Given the description of an element on the screen output the (x, y) to click on. 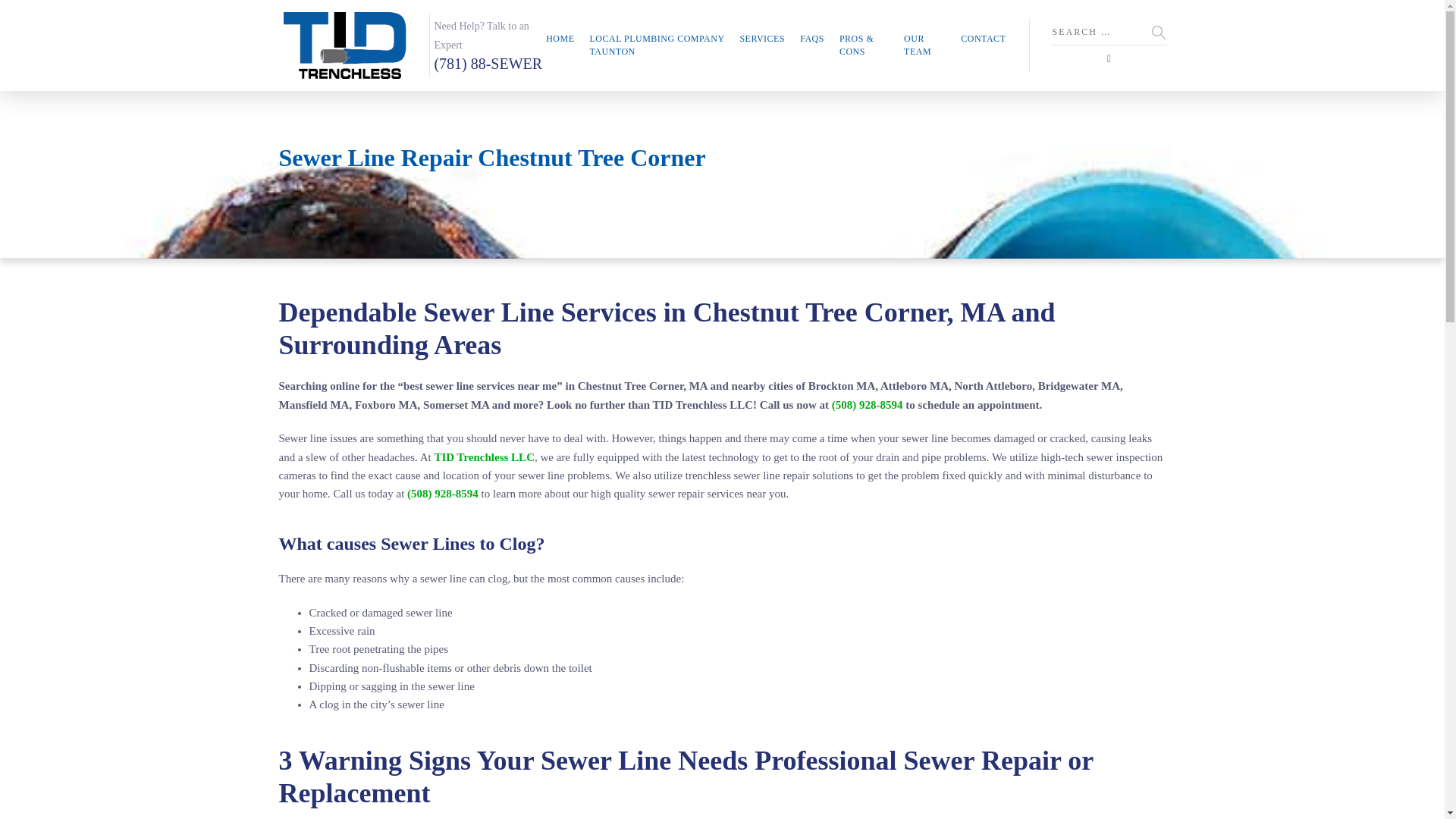
LOCAL PLUMBING COMPANY TAUNTON (656, 44)
Search (1158, 31)
Search (1158, 31)
TID Trenchless LLC (483, 456)
SERVICES (761, 38)
Search (1158, 31)
